Given the description of an element on the screen output the (x, y) to click on. 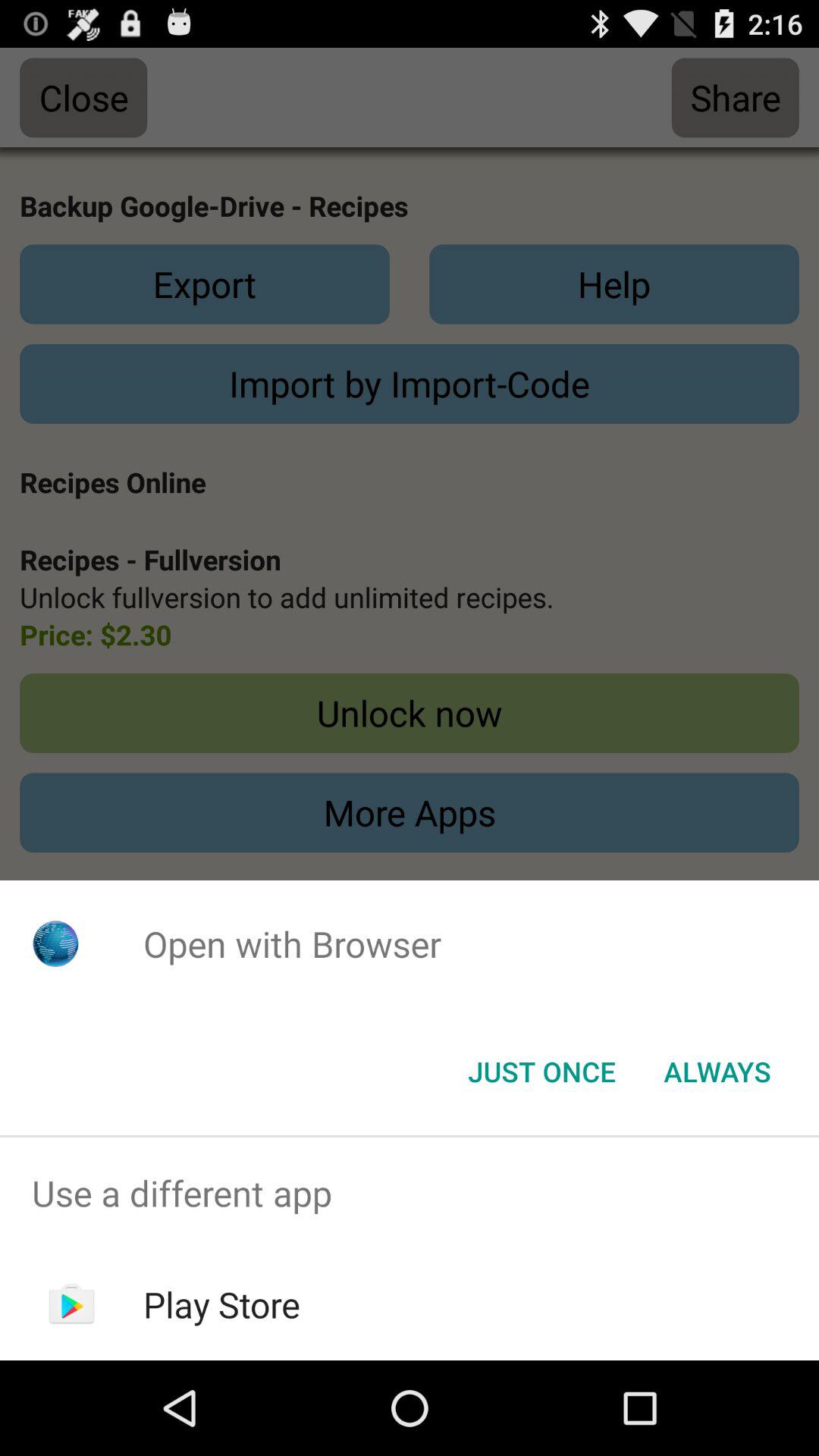
tap the icon below the open with browser app (717, 1071)
